Given the description of an element on the screen output the (x, y) to click on. 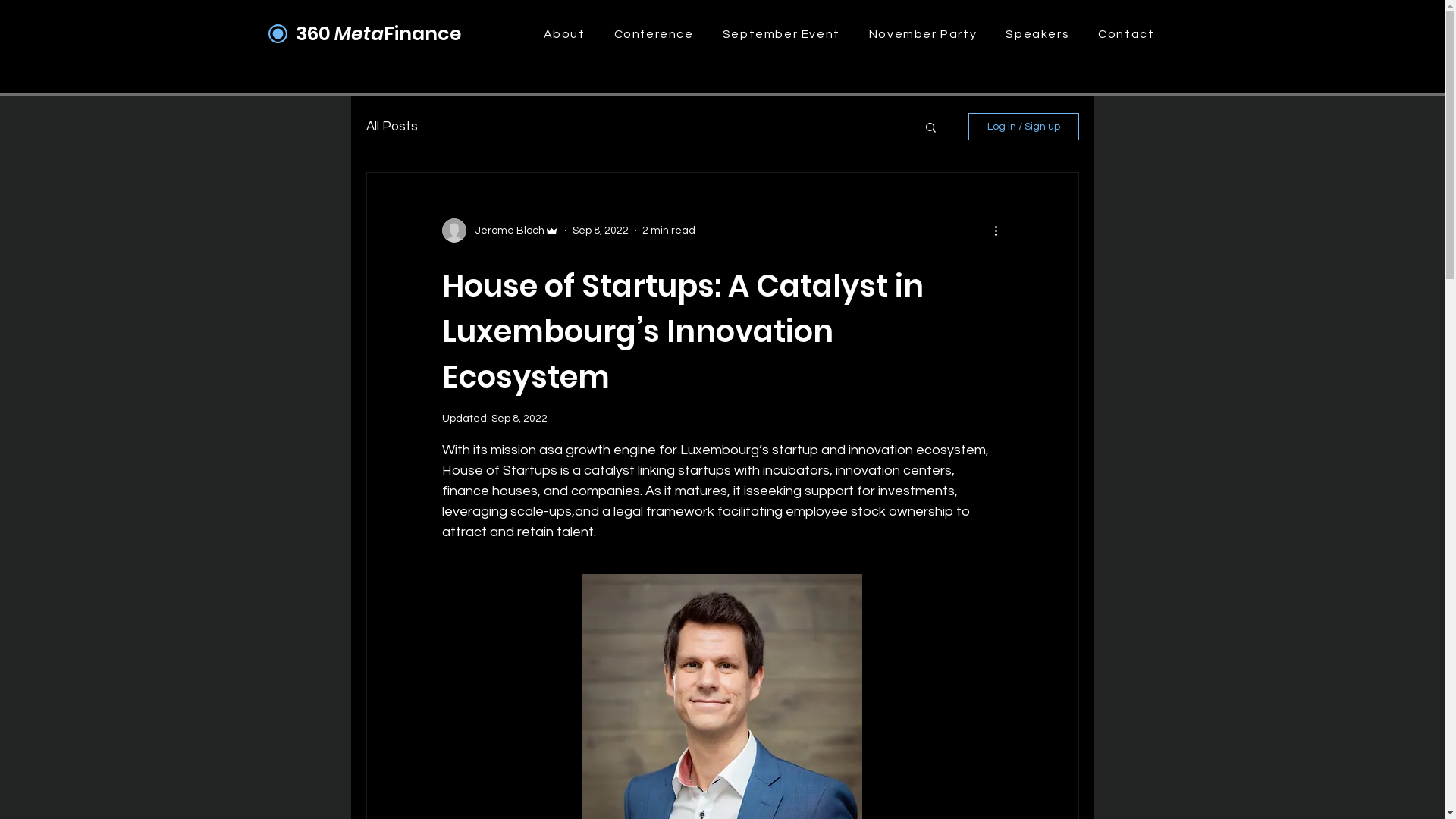
All Posts Element type: text (391, 126)
Log in / Sign up Element type: text (1022, 126)
360 MetaFinance Element type: text (378, 33)
November Party Element type: text (922, 33)
Speakers Element type: text (1037, 33)
Conference Element type: text (653, 33)
Contact Element type: text (1125, 33)
About Element type: text (564, 33)
September Event Element type: text (781, 33)
